Given the description of an element on the screen output the (x, y) to click on. 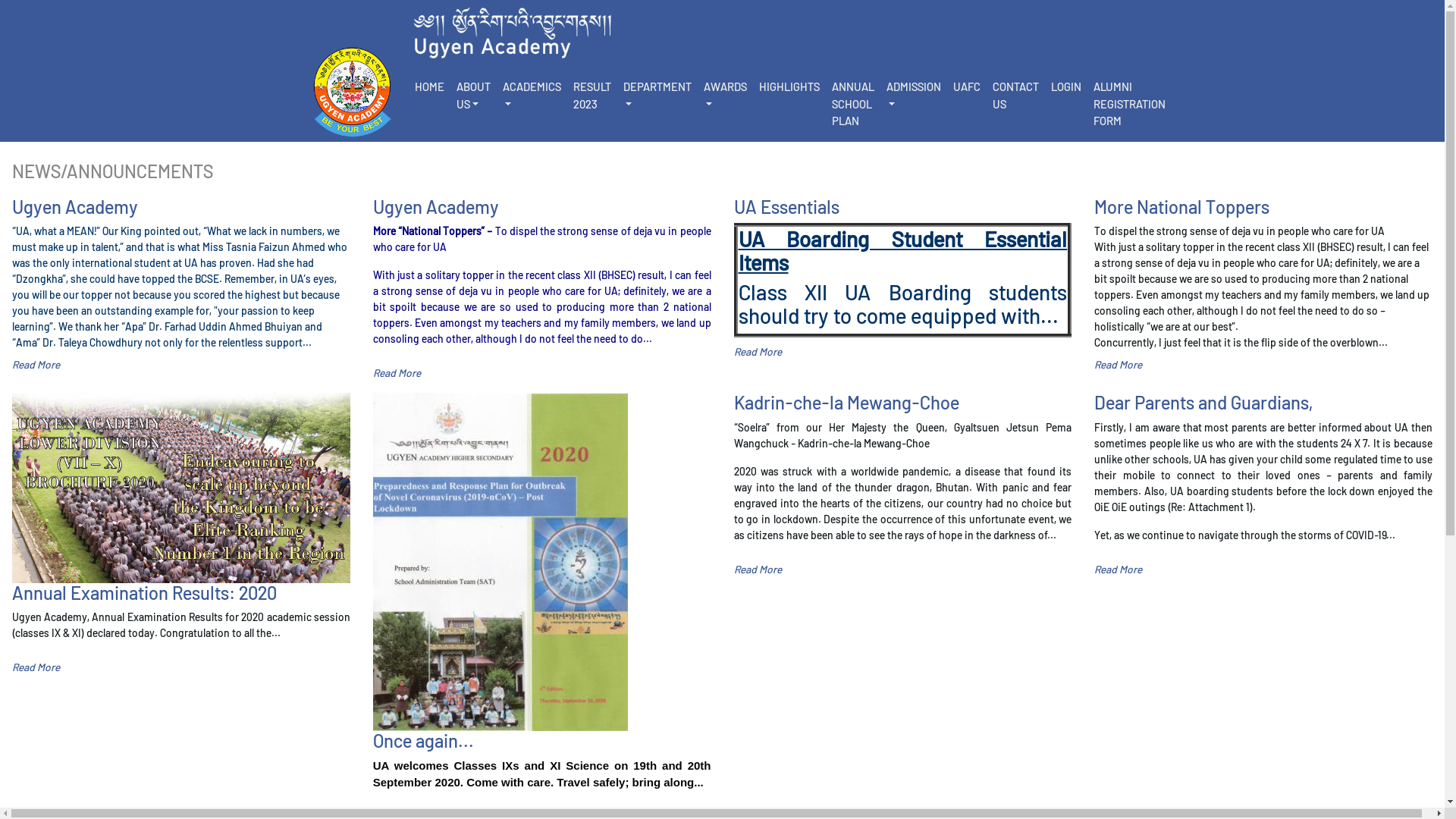
ANNUAL SCHOOL PLAN Element type: text (852, 103)
HIGHLIGHTS Element type: text (788, 86)
More National Toppers Element type: text (1263, 206)
Read More Element type: text (396, 372)
AWARDS Element type: text (725, 95)
Read More Element type: text (1118, 363)
Read More Element type: text (35, 666)
ADMISSION Element type: text (912, 95)
ACADEMICS Element type: text (530, 95)
Annual Examination Results: 2020 Element type: text (181, 592)
ABOUT US Element type: text (473, 95)
DEPARTMENT Element type: text (657, 95)
Read More Element type: text (1118, 568)
Read More Element type: text (757, 568)
RESULT 2023 Element type: text (592, 95)
Kadrin-che-la Mewang-Choe Element type: text (903, 402)
Dear Parents and Guardians, Element type: text (1263, 402)
ALUMNI REGISTRATION FORM Element type: text (1129, 103)
UA Essentials Element type: text (903, 206)
HOME Element type: text (428, 86)
CONTACT US Element type: text (1014, 95)
Once again... Element type: text (542, 740)
UAFC Element type: text (965, 86)
Read More Element type: text (35, 363)
Ugyen Academy Element type: text (181, 206)
Read More Element type: text (757, 351)
LOGIN Element type: text (1065, 86)
Ugyen Academy Element type: text (542, 206)
